Given the description of an element on the screen output the (x, y) to click on. 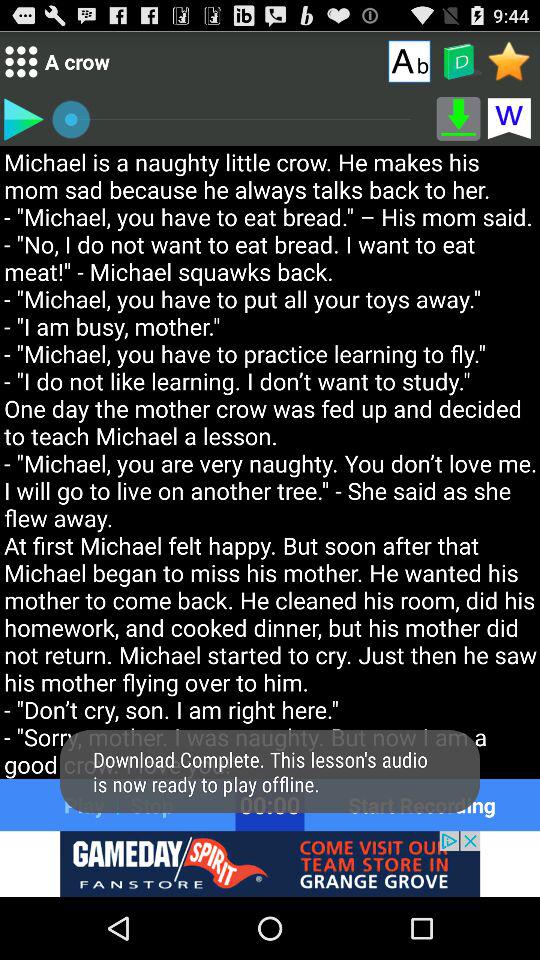
select the icon download which is on right hand side (458, 119)
click on the left side icon which is left side to a crow (21, 61)
select w icon which is below star icon on the top right corner of the page (508, 119)
